Given the description of an element on the screen output the (x, y) to click on. 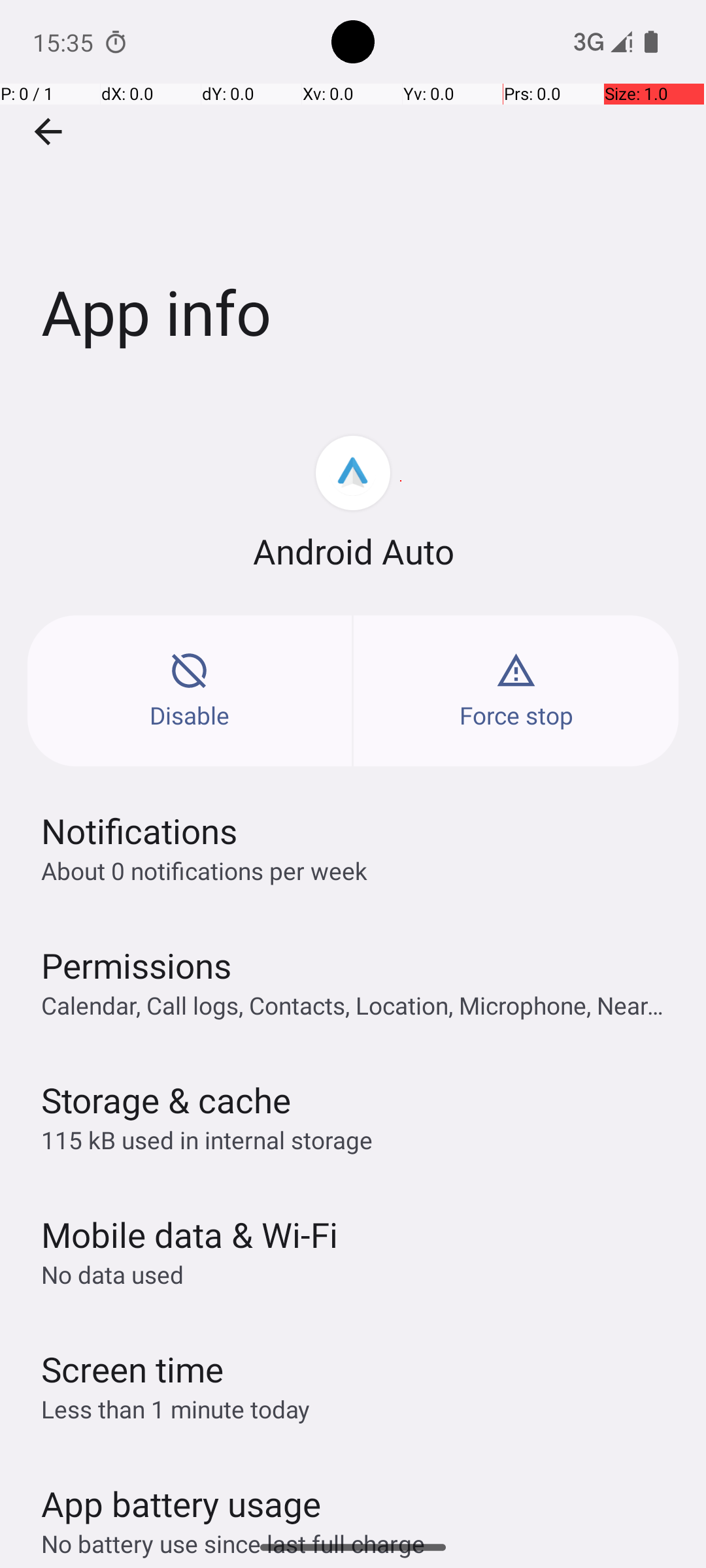
Calendar, Call logs, Contacts, Location, Microphone, Nearby devices, Notifications, Phone, and SMS Element type: android.widget.TextView (359, 1004)
115 kB used in internal storage Element type: android.widget.TextView (206, 1139)
Less than 1 minute today Element type: android.widget.TextView (175, 1408)
